Given the description of an element on the screen output the (x, y) to click on. 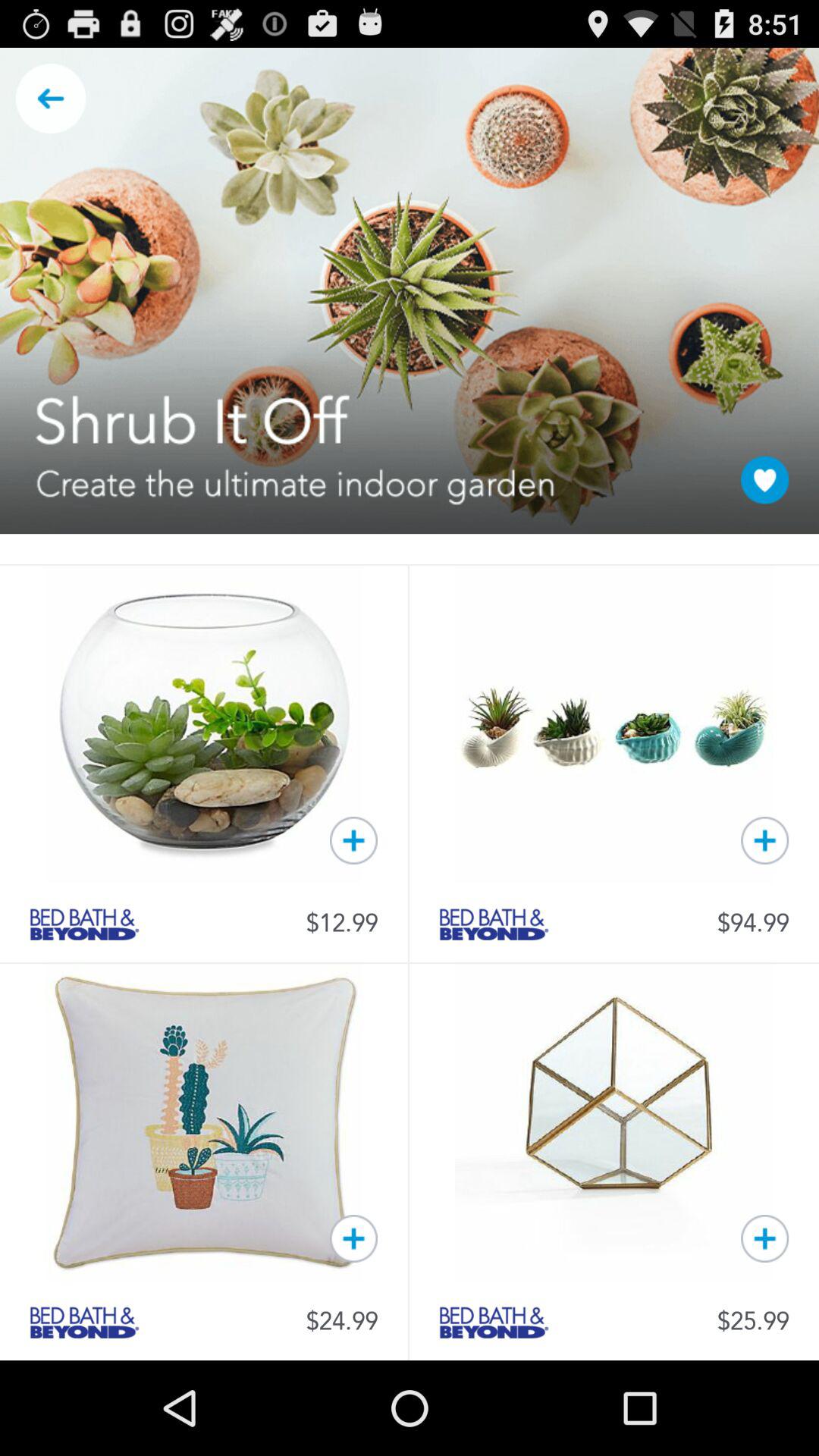
add item (764, 1238)
